Given the description of an element on the screen output the (x, y) to click on. 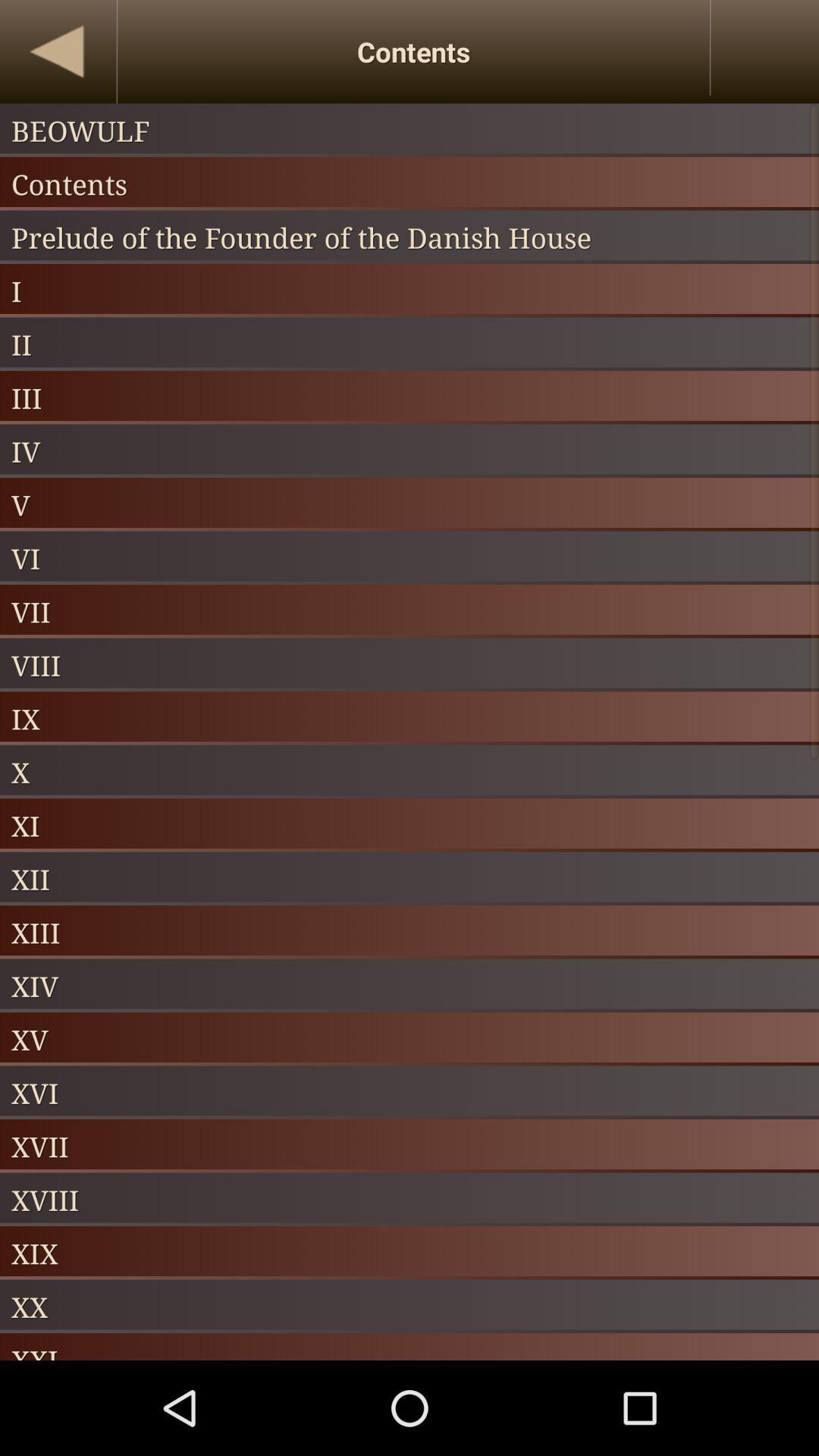
swipe to xx icon (409, 1306)
